Given the description of an element on the screen output the (x, y) to click on. 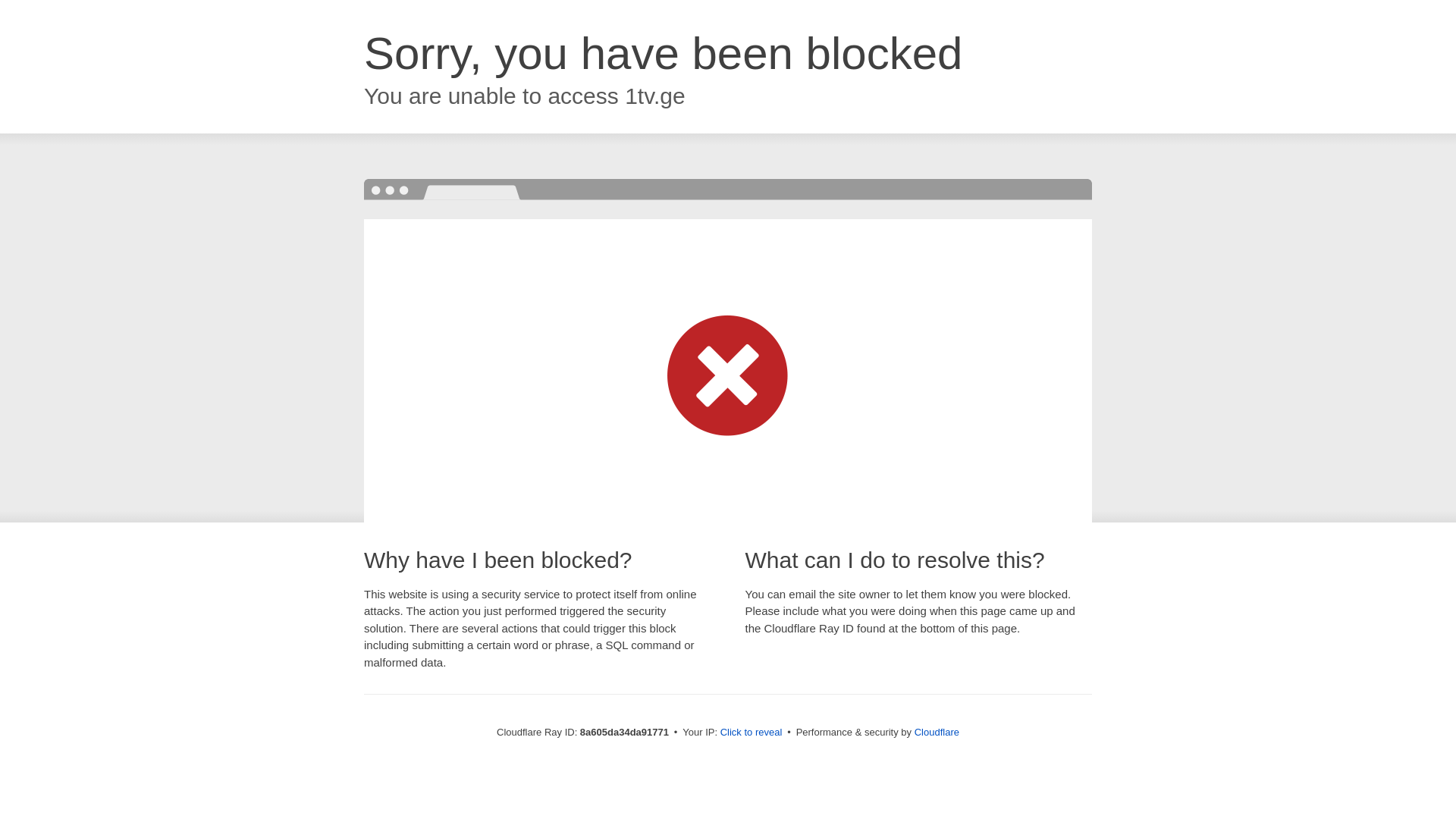
Cloudflare (936, 731)
Click to reveal (751, 732)
